Given the description of an element on the screen output the (x, y) to click on. 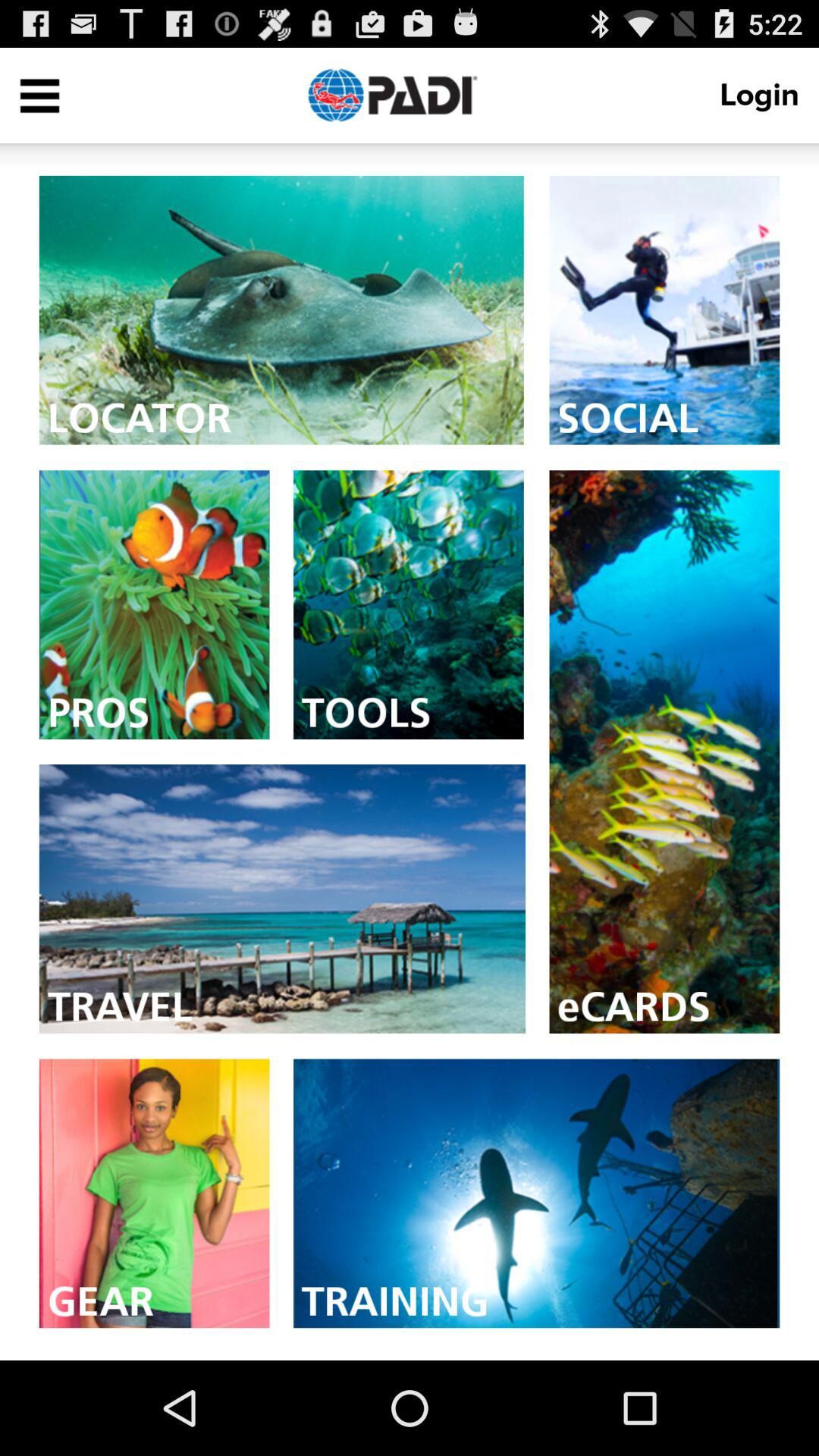
locator menu (281, 309)
